Given the description of an element on the screen output the (x, y) to click on. 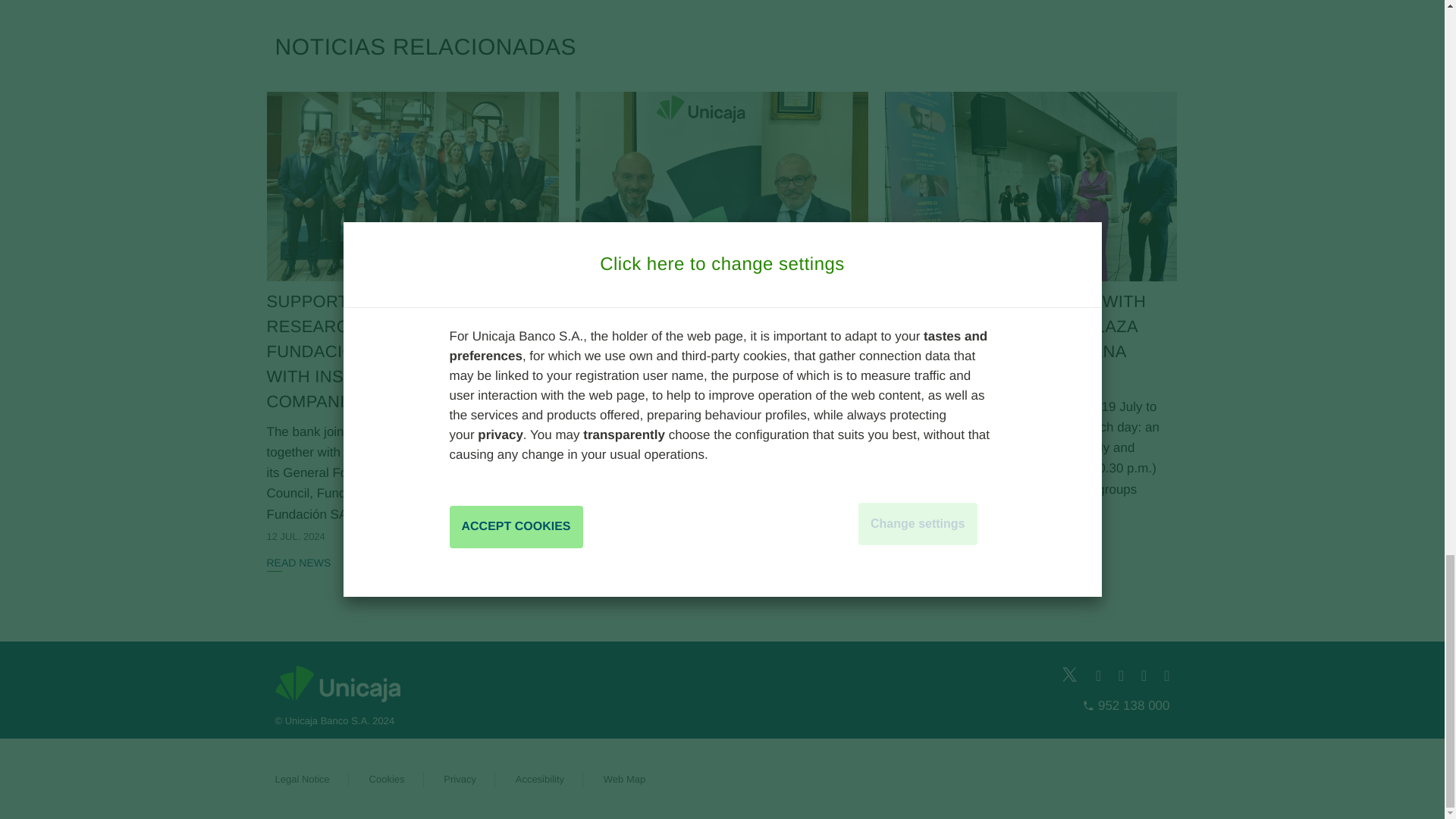
Read news (412, 250)
Read news (721, 237)
Read news (298, 563)
